Given the description of an element on the screen output the (x, y) to click on. 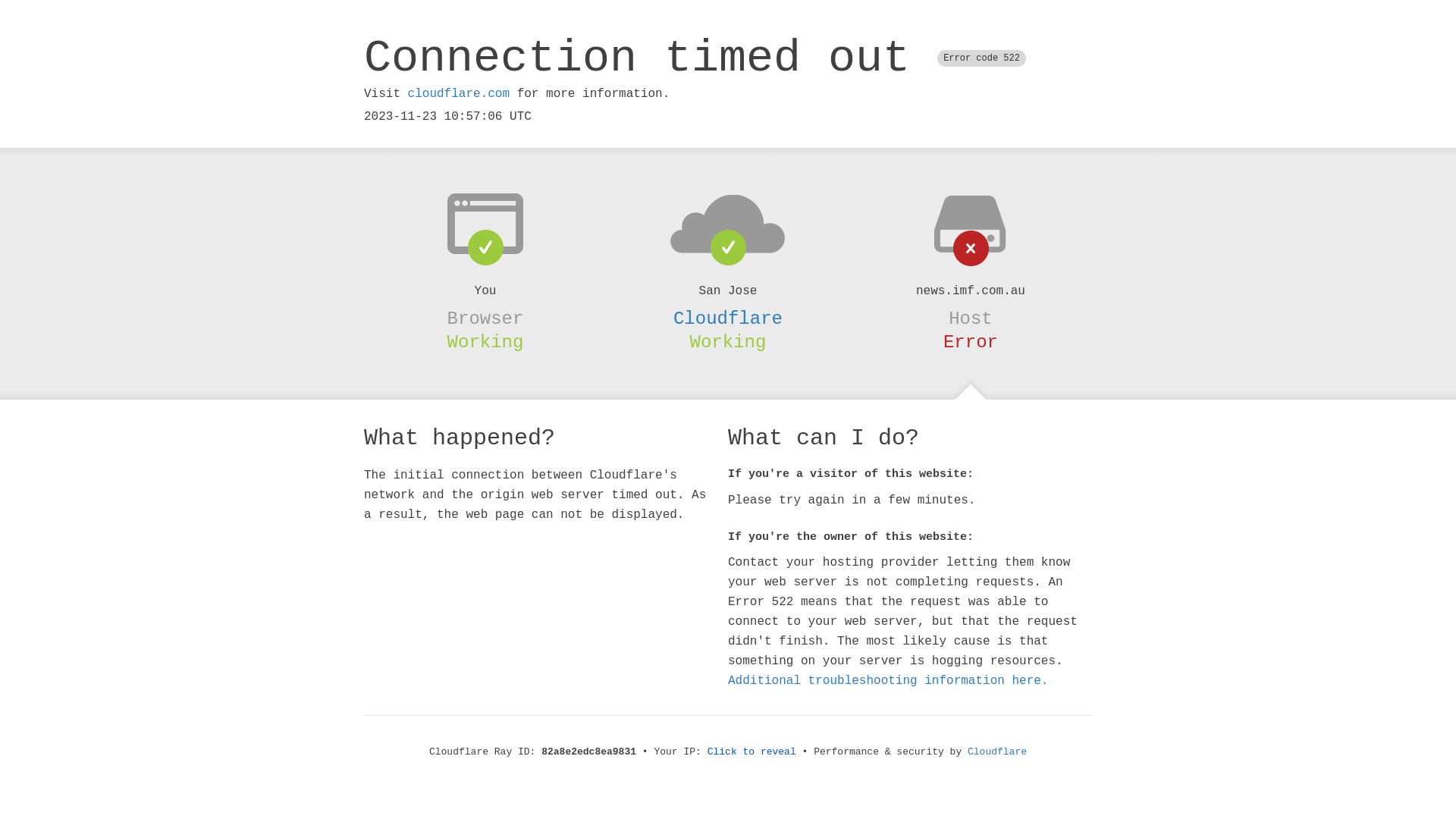
Cloudflare Element type: text (996, 751)
cloudflare.com Element type: text (458, 93)
Click to reveal Element type: text (751, 751)
Cloudflare Element type: text (727, 318)
Additional troubleshooting information here. Element type: text (888, 680)
